Given the description of an element on the screen output the (x, y) to click on. 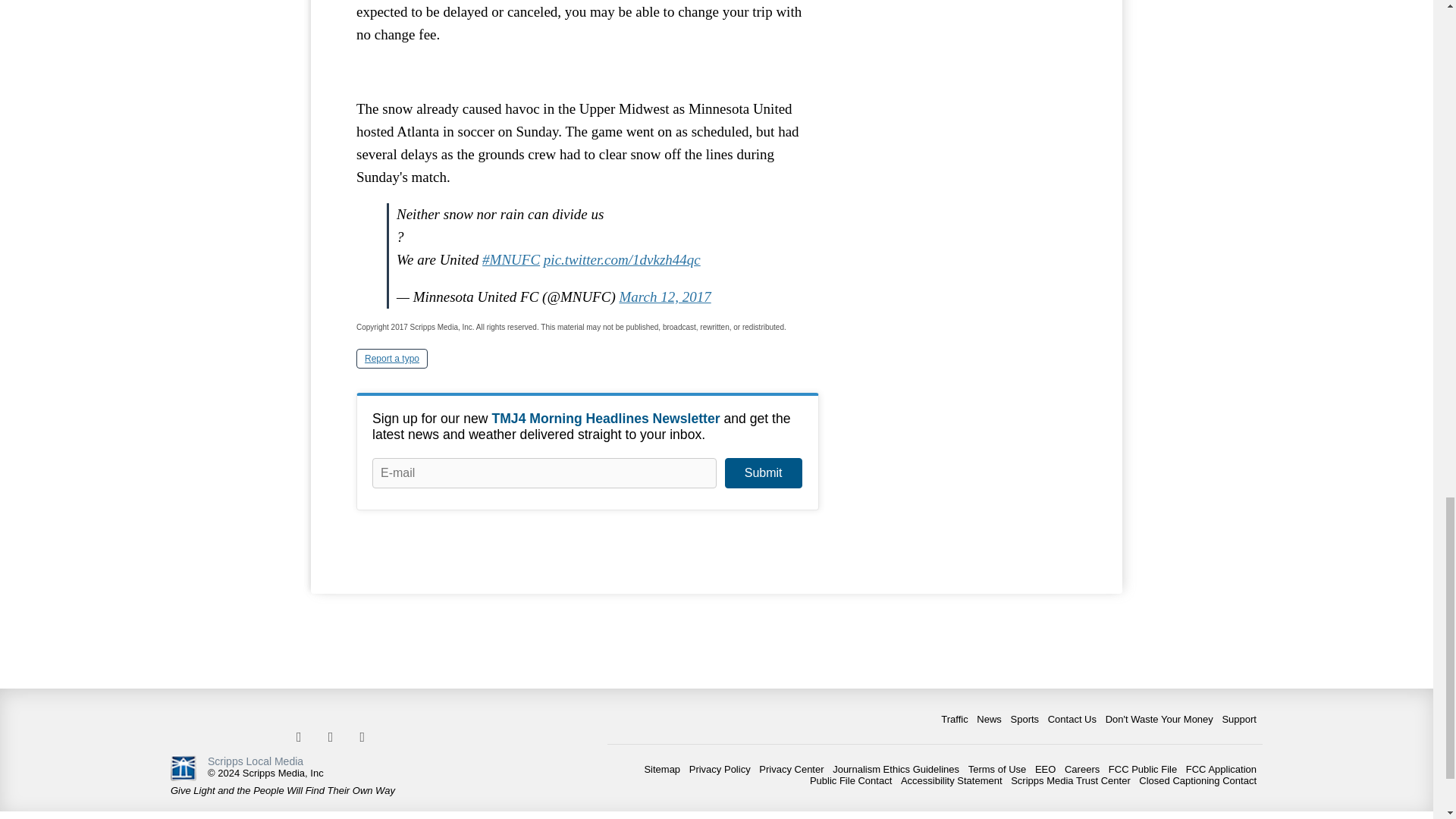
Submit (763, 472)
